Given the description of an element on the screen output the (x, y) to click on. 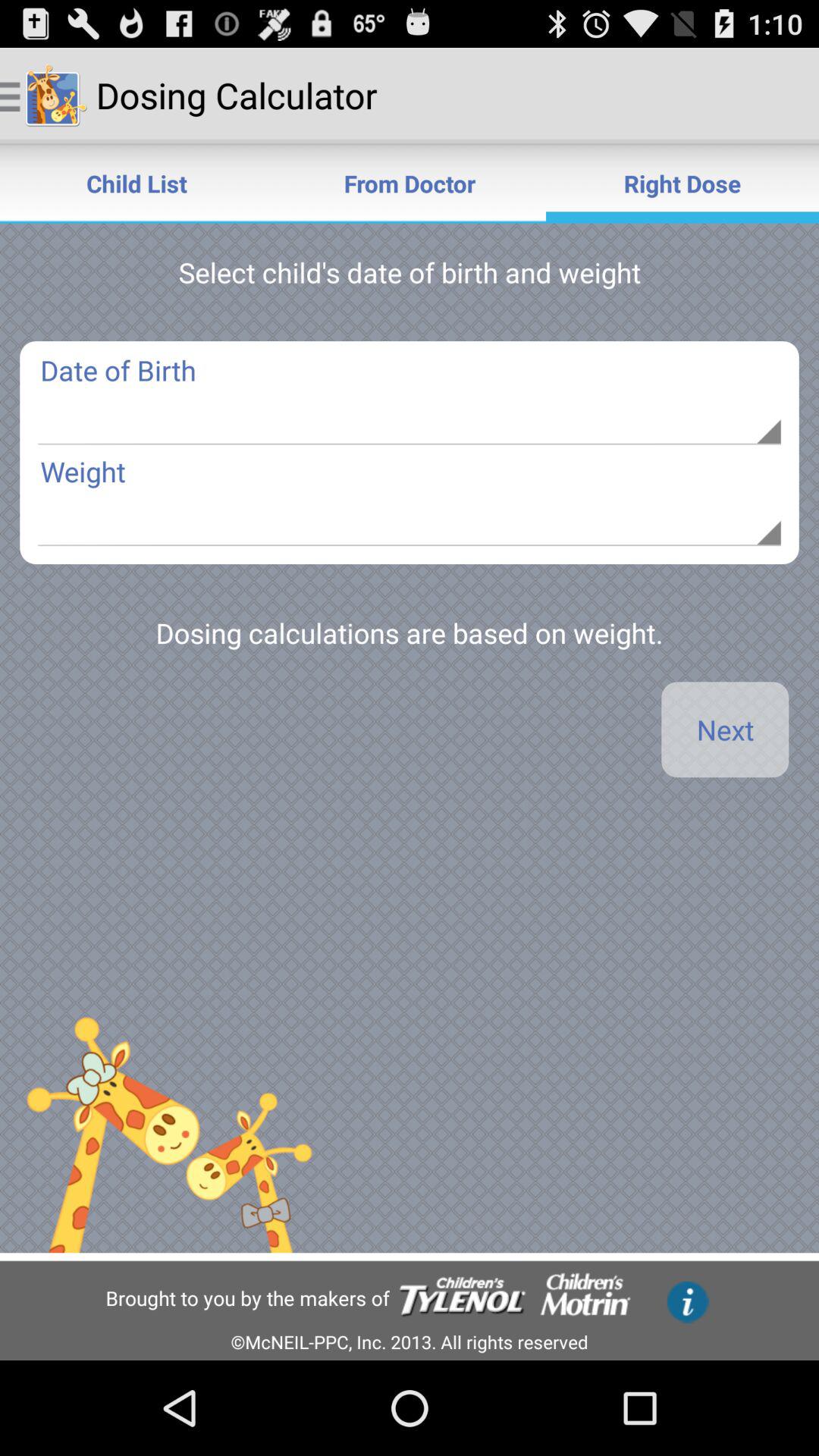
tap child list icon (136, 183)
